Given the description of an element on the screen output the (x, y) to click on. 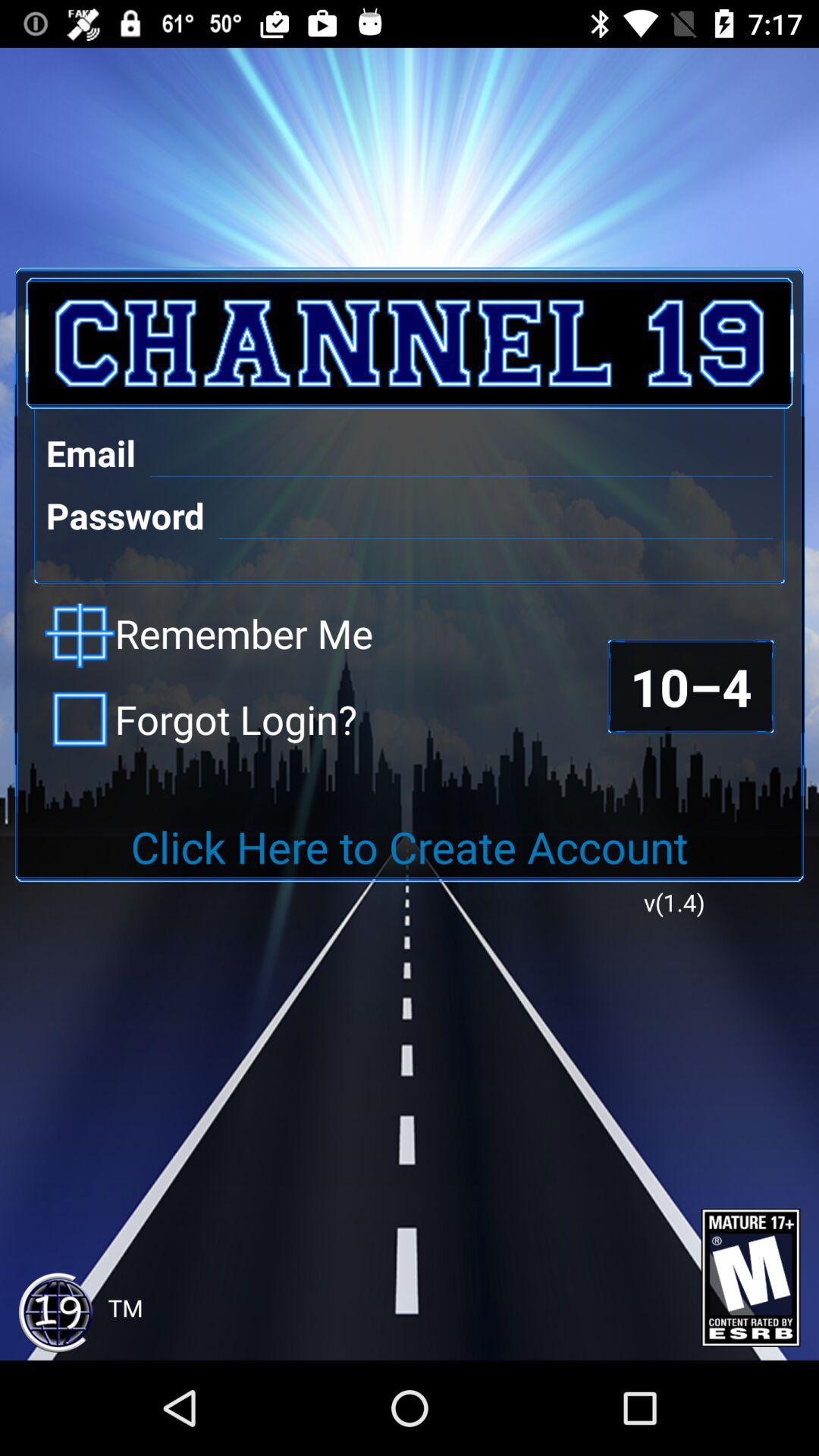
launch the item to the right of the remember me checkbox (690, 686)
